Given the description of an element on the screen output the (x, y) to click on. 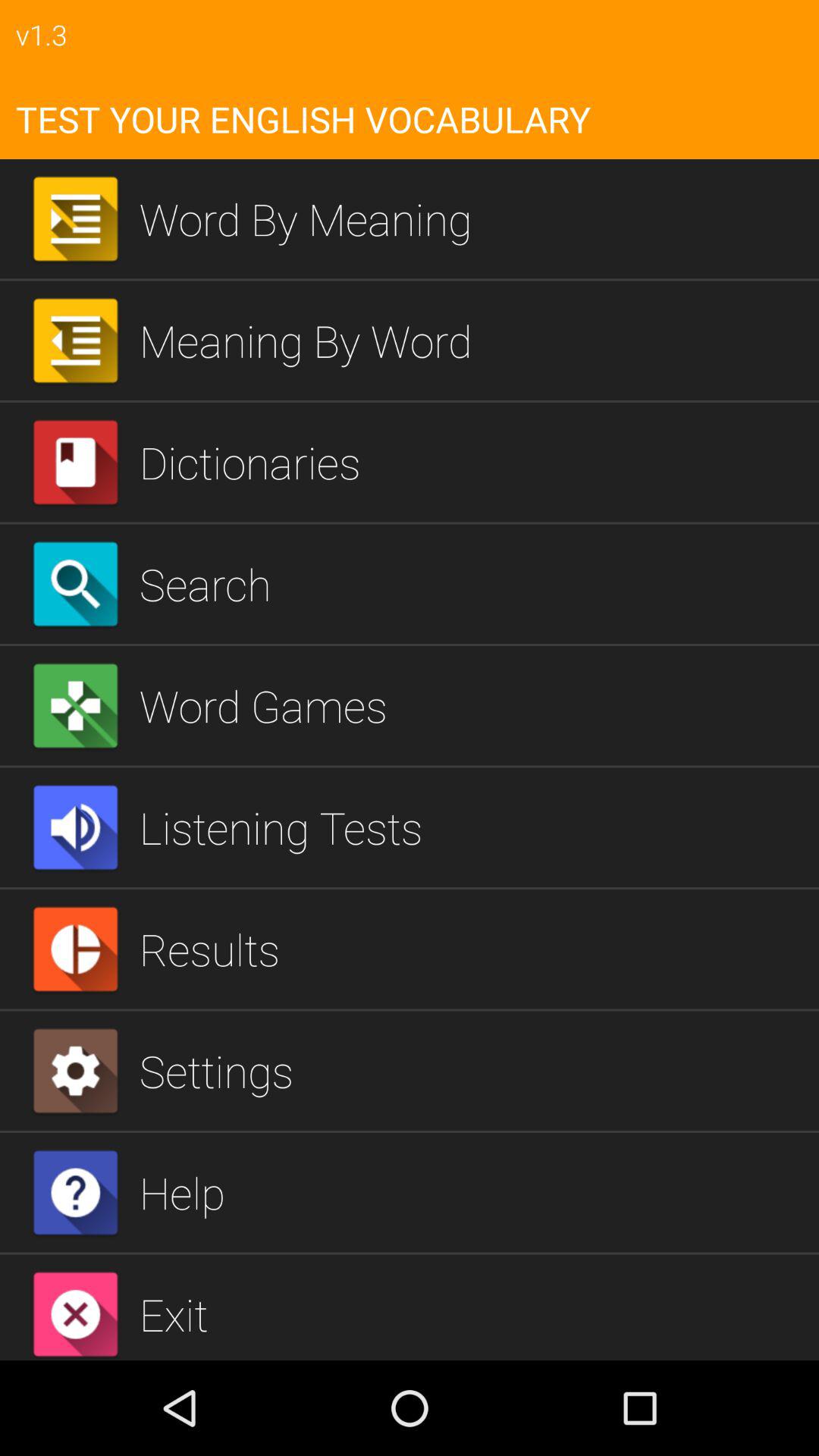
turn off exit (473, 1313)
